Given the description of an element on the screen output the (x, y) to click on. 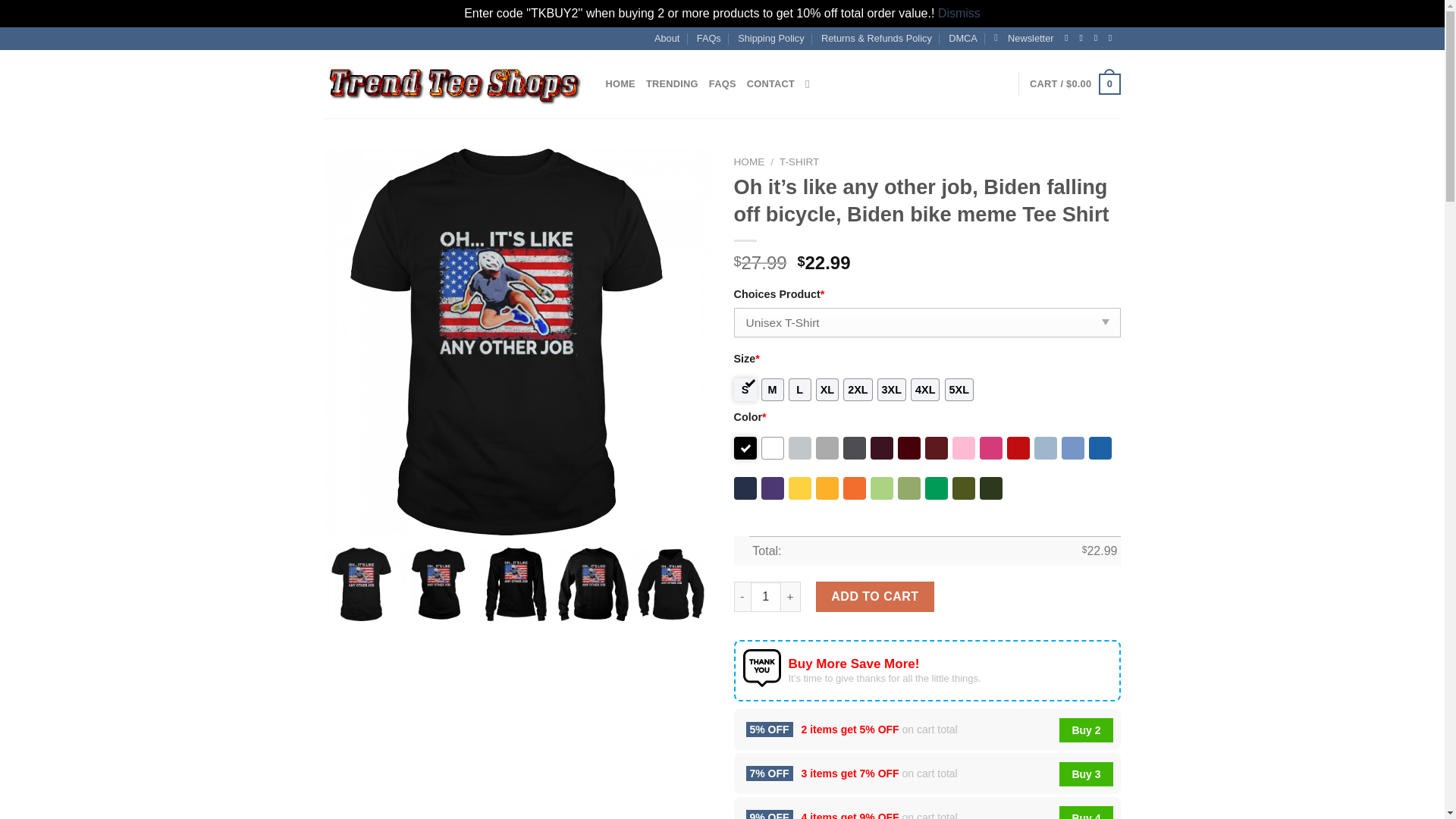
Newsletter (1023, 38)
Cart (1074, 84)
HOME (619, 83)
About (666, 38)
Dismiss (958, 12)
TRENDING (672, 83)
CONTACT (770, 83)
ADD TO CART (874, 596)
FAQS (722, 83)
Shipping Policy (771, 38)
HOME (749, 161)
FAQs (708, 38)
DMCA (962, 38)
- (742, 596)
